Given the description of an element on the screen output the (x, y) to click on. 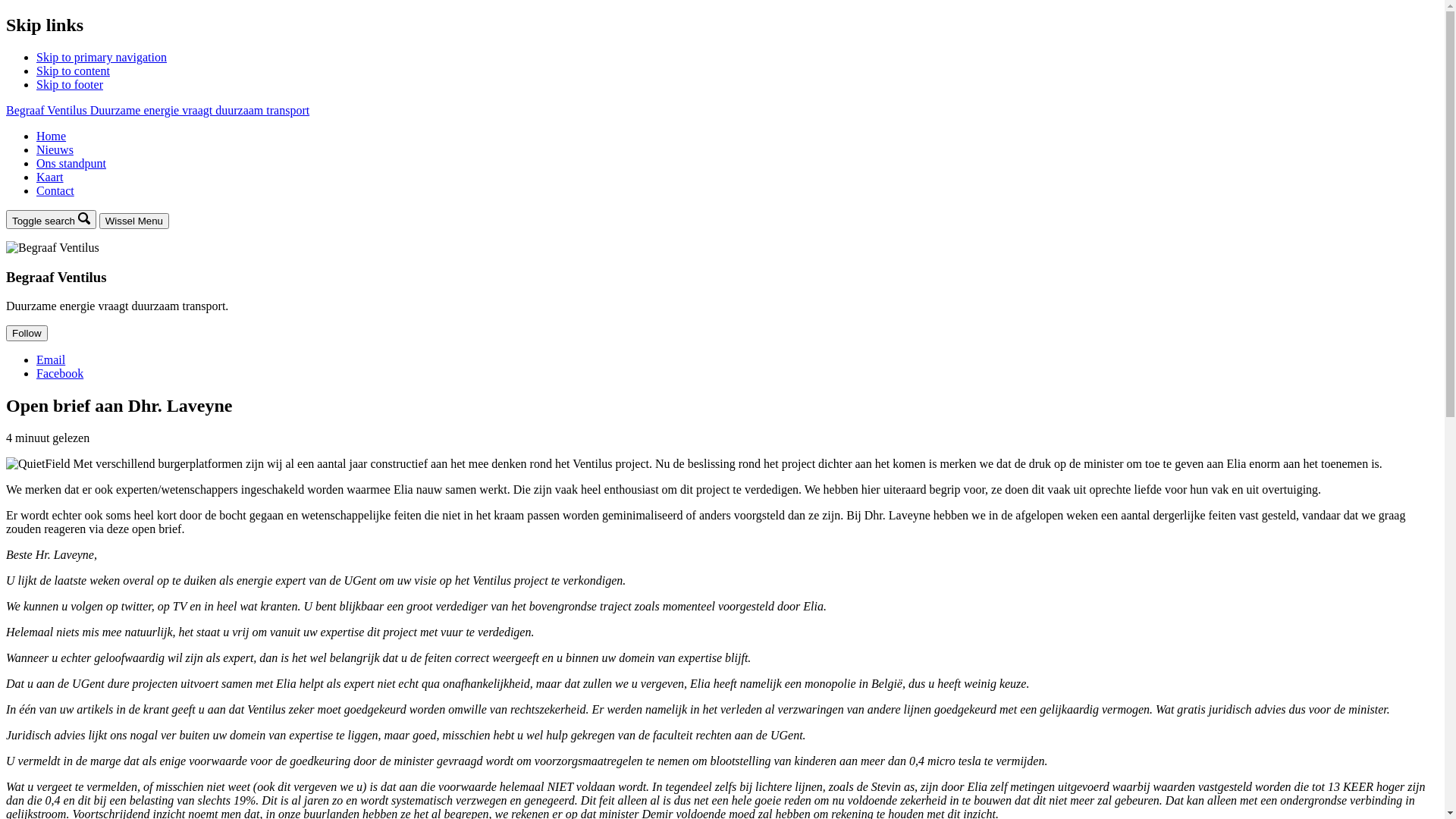
Kaart Element type: text (49, 176)
Email Element type: text (50, 359)
Wissel Menu Element type: text (134, 221)
Follow Element type: text (26, 333)
Facebook Element type: text (59, 373)
Nieuws Element type: text (54, 149)
Contact Element type: text (55, 190)
Home Element type: text (50, 135)
Toggle search Element type: text (51, 219)
Ons standpunt Element type: text (71, 162)
Skip to content Element type: text (72, 70)
Skip to footer Element type: text (69, 84)
Skip to primary navigation Element type: text (101, 56)
Begraaf Ventilus Duurzame energie vraagt duurzaam transport Element type: text (157, 109)
